Given the description of an element on the screen output the (x, y) to click on. 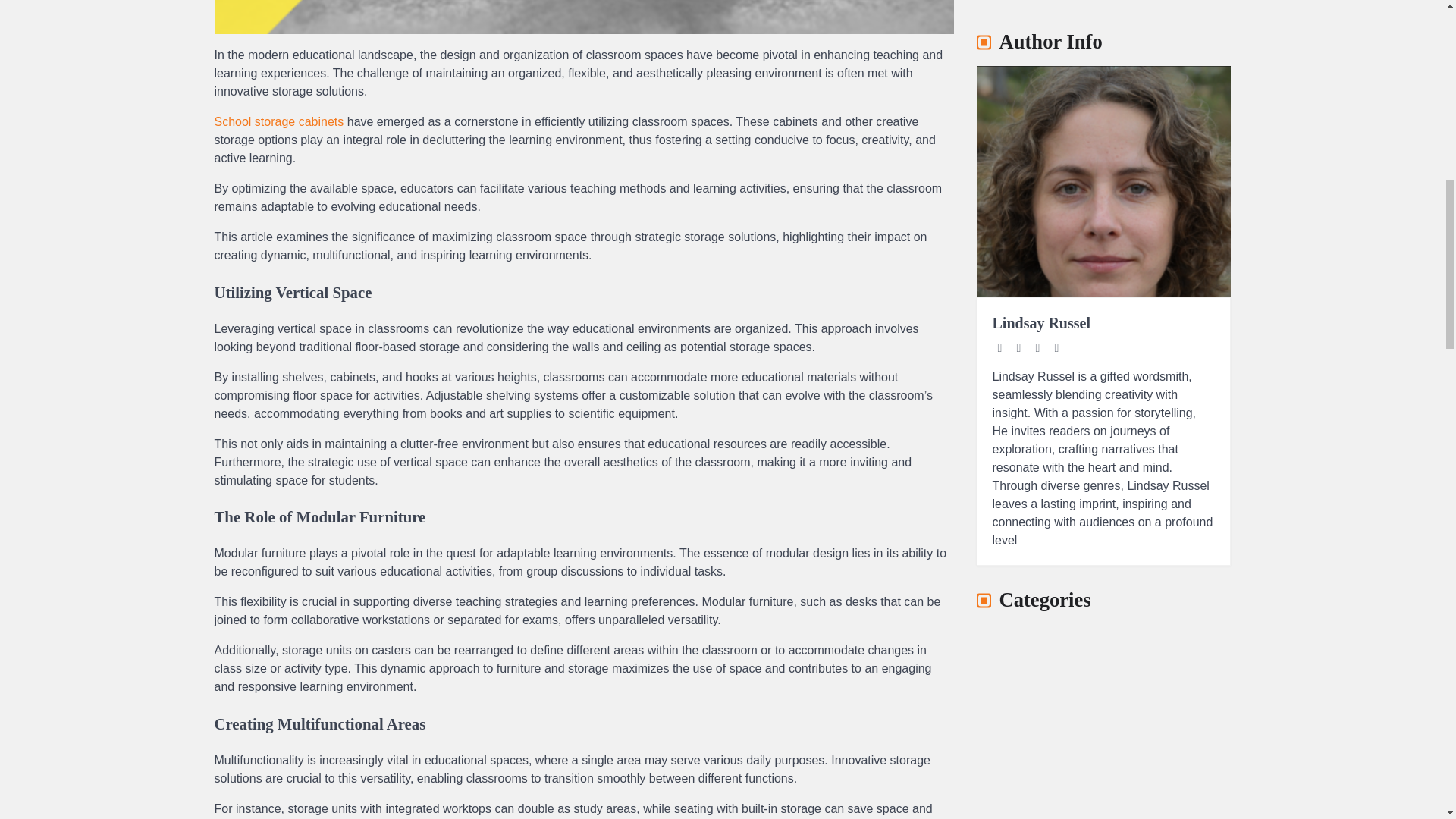
School storage cabinets (278, 121)
